Given the description of an element on the screen output the (x, y) to click on. 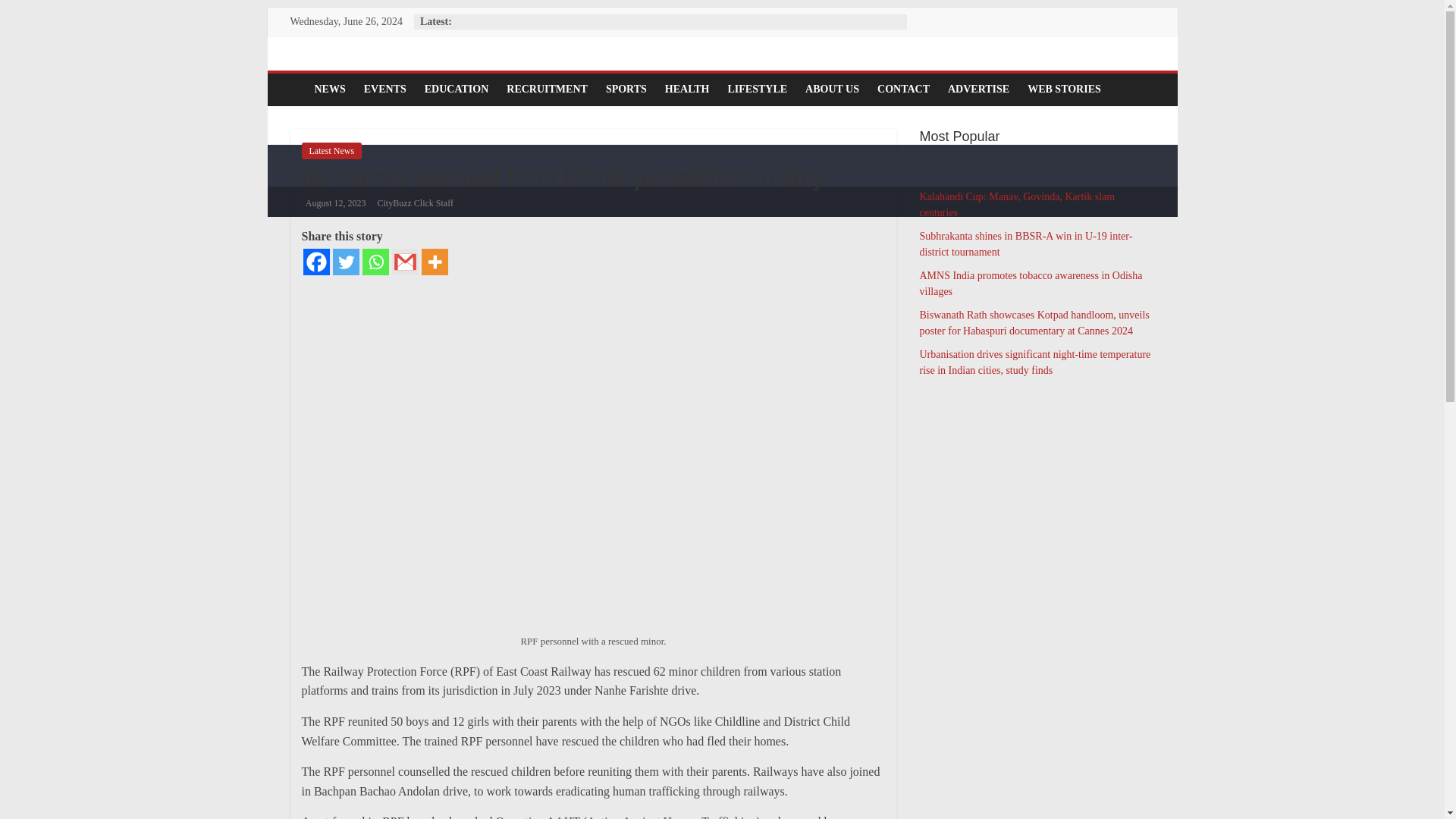
SPORTS (626, 89)
Facebook (316, 261)
RECRUITMENT (546, 89)
CONTACT (903, 89)
CityBuzz Click Staff (414, 203)
EDUCATION (455, 89)
Twitter (344, 261)
WEB STORIES (1063, 89)
More (435, 261)
NEWS (328, 89)
